Given the description of an element on the screen output the (x, y) to click on. 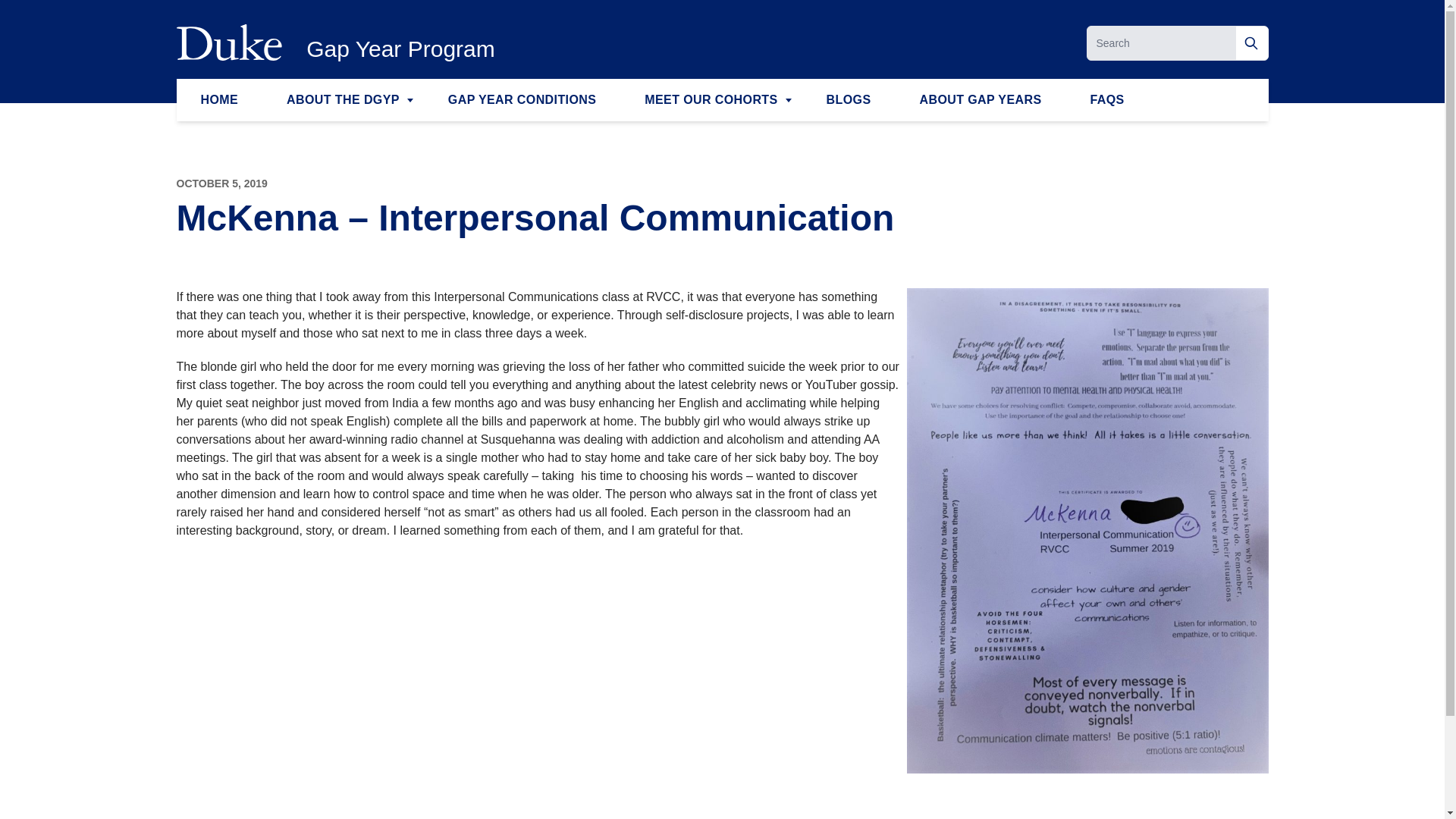
Gap Year Program (400, 48)
MEET OUR COHORTS (711, 99)
ABOUT GAP YEARS (980, 99)
ABOUT THE DGYP (342, 99)
Skip to content (40, 21)
GAP YEAR CONDITIONS (521, 99)
FAQS (1106, 99)
HOME (219, 99)
BLOGS (848, 99)
Search (1252, 42)
